Given the description of an element on the screen output the (x, y) to click on. 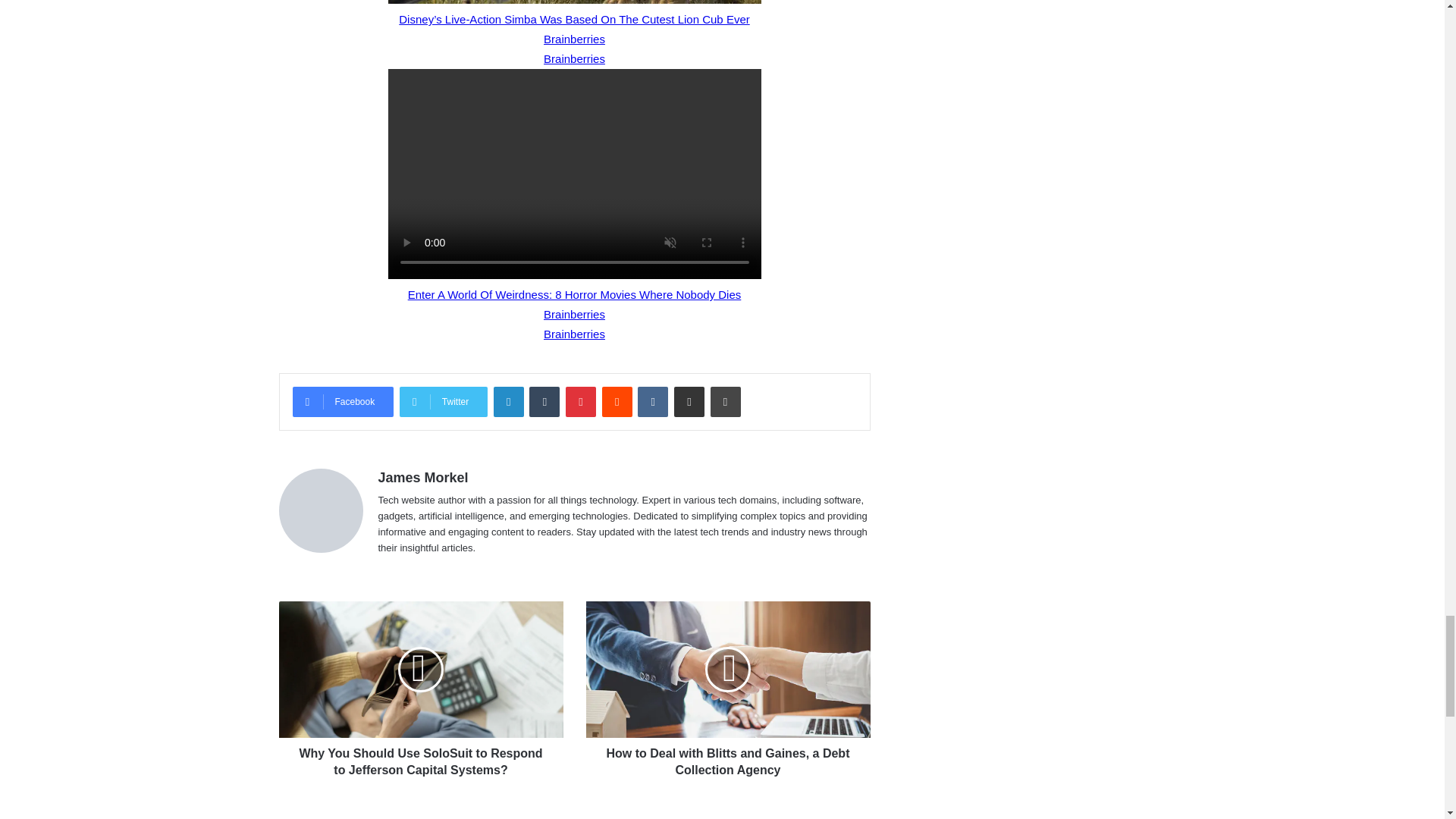
LinkedIn (508, 401)
Tumblr (544, 401)
Twitter (442, 401)
VKontakte (652, 401)
Reddit (616, 401)
How to Deal with Blitts and Gaines, a Debt Collection Agency (727, 757)
LinkedIn (508, 401)
Facebook (343, 401)
James Morkel (422, 477)
Print (725, 401)
Facebook (343, 401)
Twitter (442, 401)
Print (725, 401)
Reddit (616, 401)
